Given the description of an element on the screen output the (x, y) to click on. 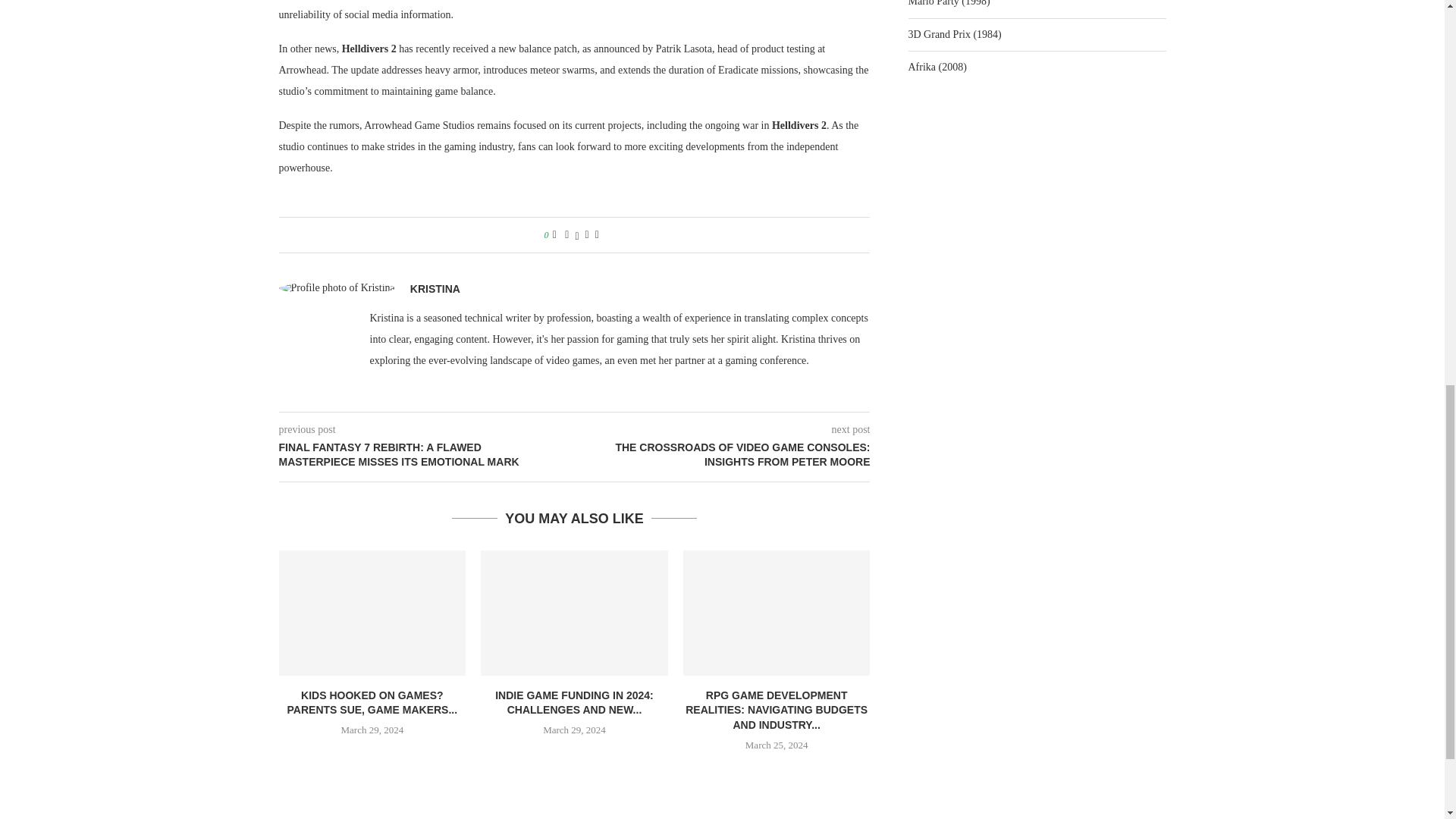
Author Kristina (435, 288)
